Given the description of an element on the screen output the (x, y) to click on. 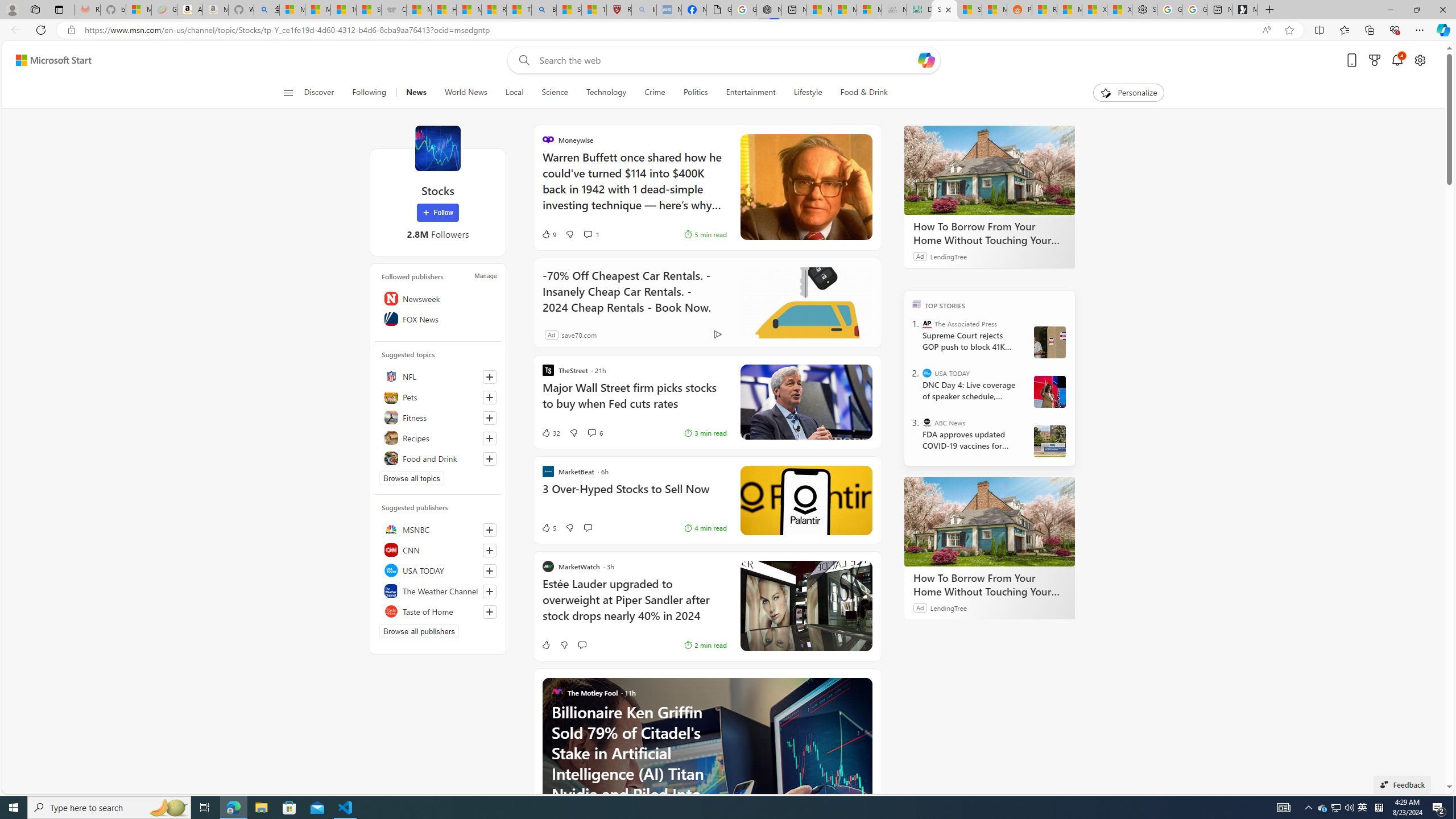
Follow this source (489, 612)
Entertainment (750, 92)
Entertainment (750, 92)
The Associated Press (927, 323)
Skip to footer (46, 59)
Politics (695, 92)
9 Like (547, 233)
Science (554, 92)
Crime (654, 92)
MSN (993, 9)
News (416, 92)
